Given the description of an element on the screen output the (x, y) to click on. 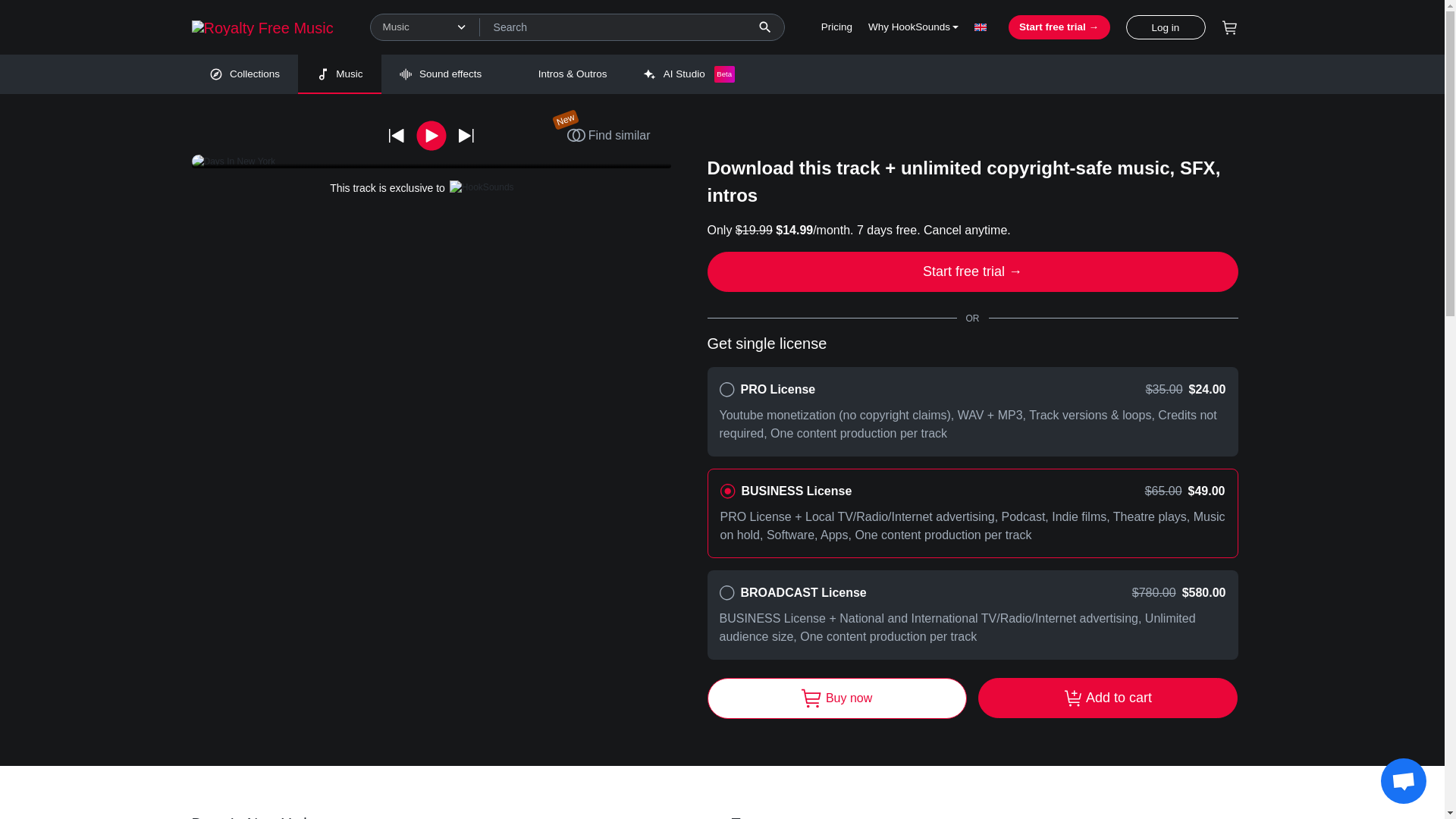
Collections (243, 74)
Music (339, 74)
Log in (1165, 27)
Pricing (836, 27)
Why HookSounds (913, 27)
HookSounds (261, 28)
